Given the description of an element on the screen output the (x, y) to click on. 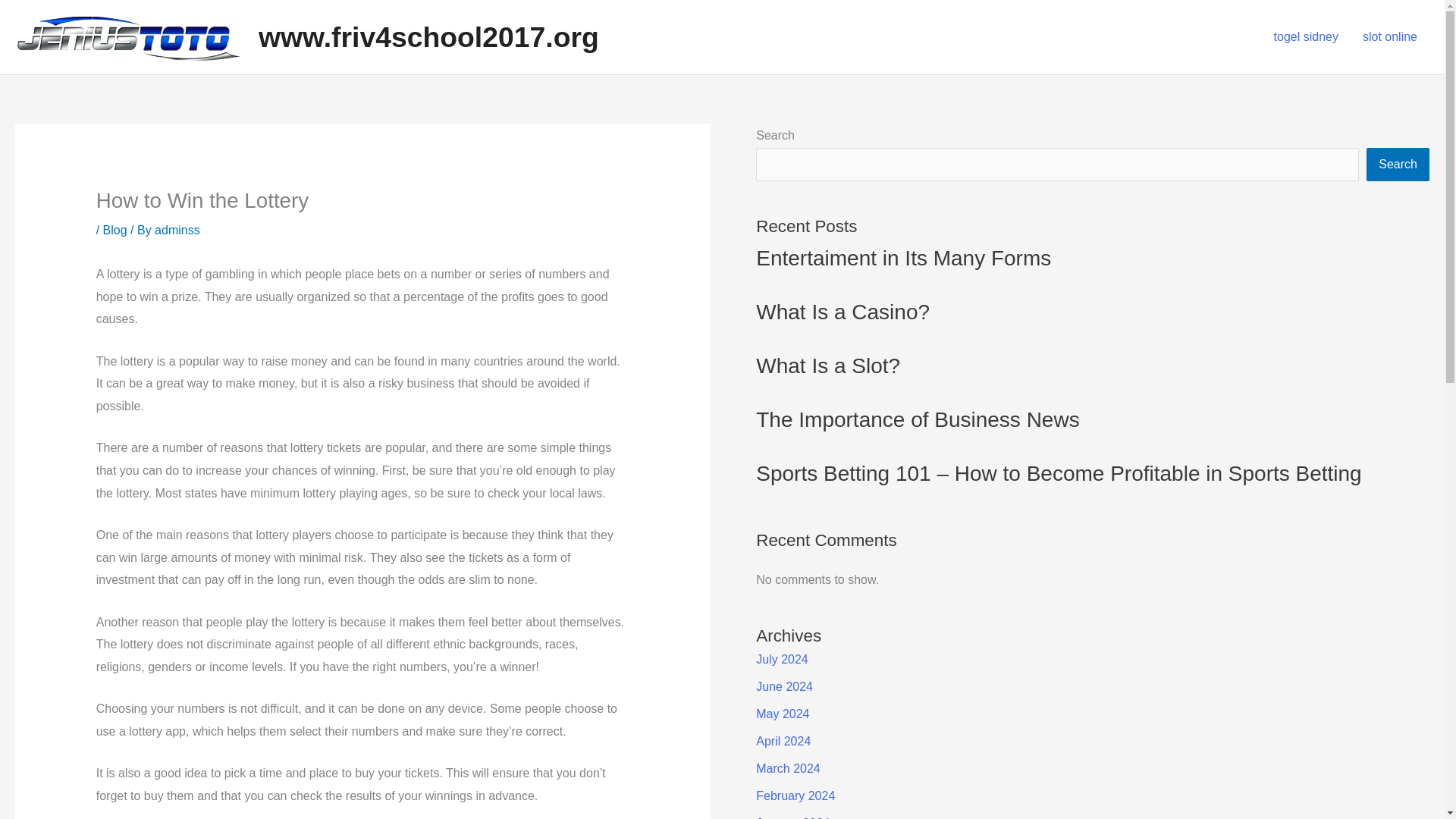
February 2024 (794, 795)
May 2024 (782, 713)
March 2024 (788, 768)
www.friv4school2017.org (428, 37)
The Importance of Business News (916, 419)
slot online (1390, 36)
January 2024 (792, 817)
June 2024 (783, 686)
July 2024 (781, 658)
Entertaiment in Its Many Forms (903, 258)
April 2024 (782, 740)
What Is a Casino? (842, 311)
togel sidney (1306, 36)
adminss (177, 229)
Search (1398, 164)
